Given the description of an element on the screen output the (x, y) to click on. 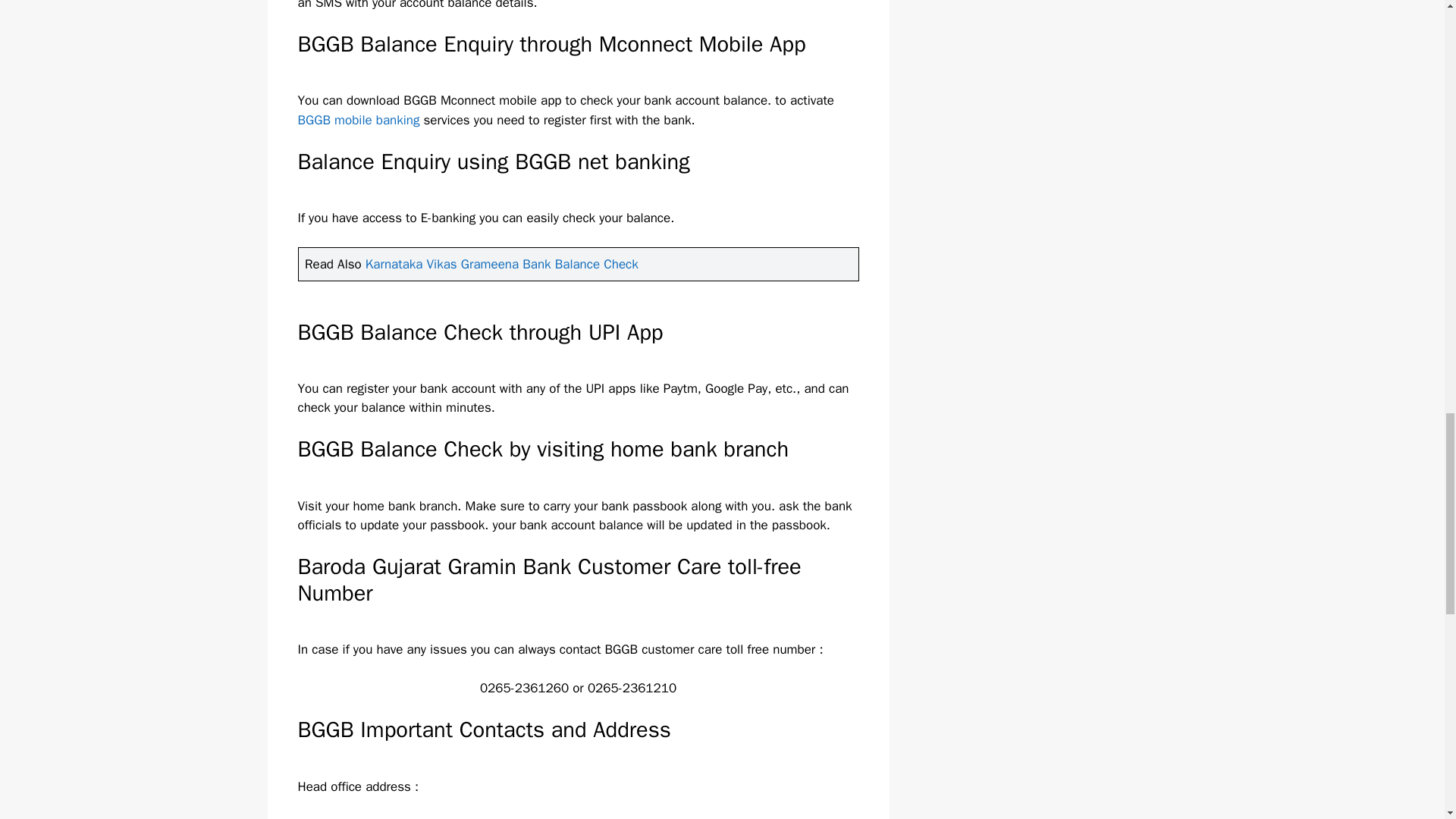
BGGB mobile banking (358, 119)
Karnataka Vikas Grameena Bank Balance Check (502, 263)
